Given the description of an element on the screen output the (x, y) to click on. 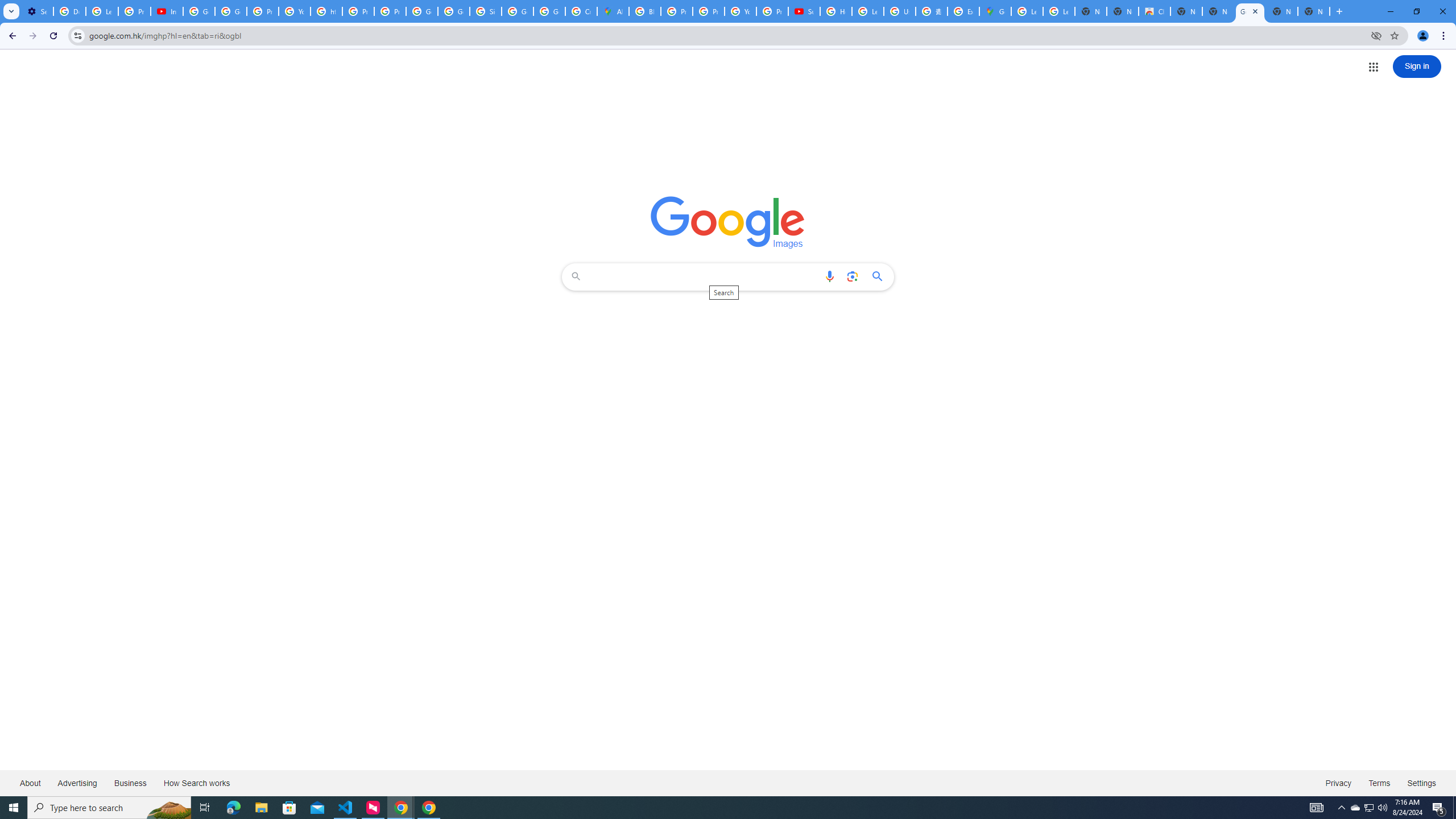
Terms (1379, 782)
Explore new street-level details - Google Maps Help (963, 11)
